Given the description of an element on the screen output the (x, y) to click on. 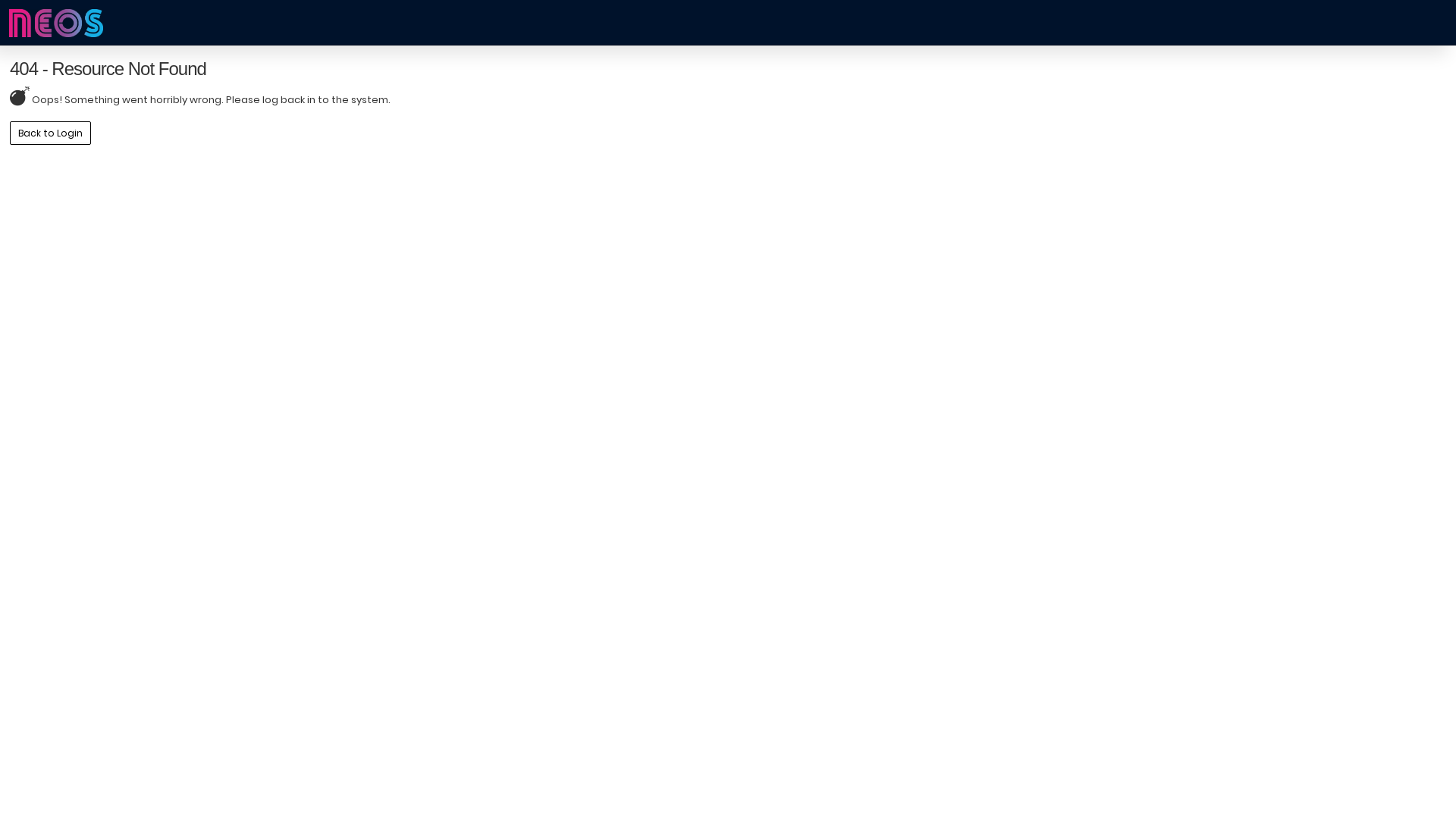
Back to Login Element type: text (50, 132)
